Given the description of an element on the screen output the (x, y) to click on. 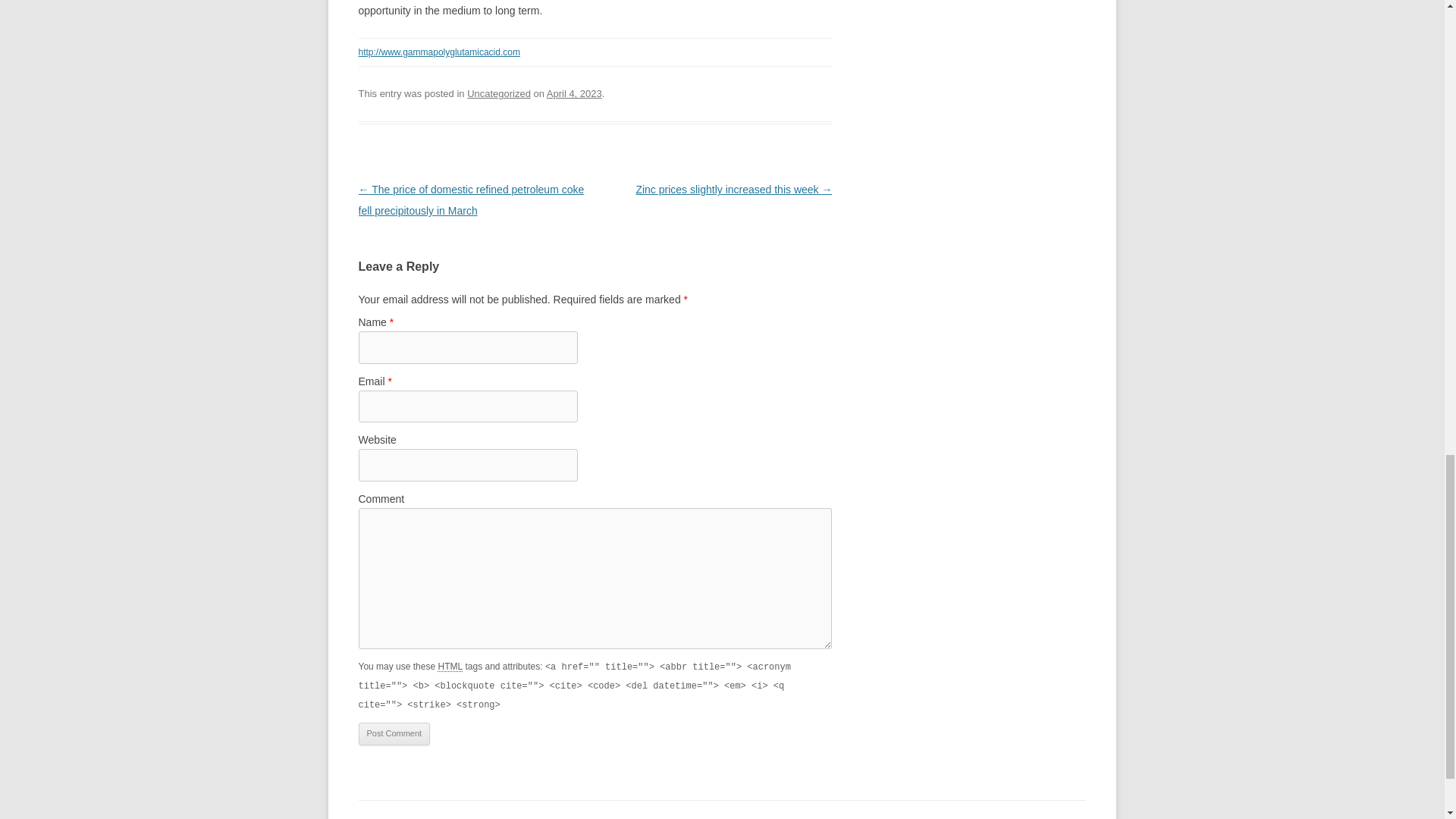
View all posts in Uncategorized (499, 93)
HyperText Markup Language (450, 665)
April 4, 2023 (574, 93)
1:55 am (574, 93)
Uncategorized (499, 93)
Post Comment (393, 733)
Post Comment (393, 733)
